Given the description of an element on the screen output the (x, y) to click on. 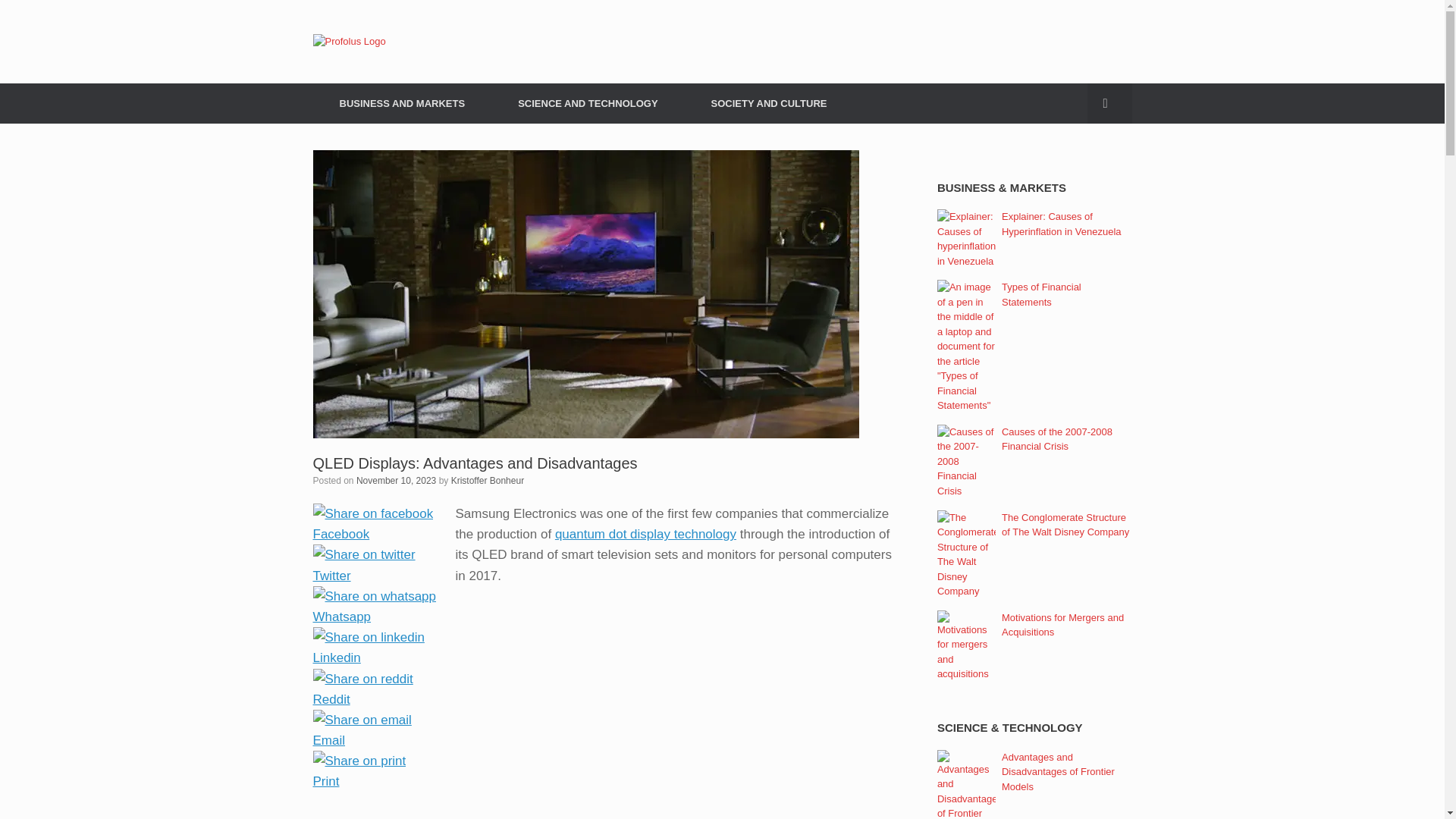
Email (374, 740)
Reddit (374, 699)
whatsapp (374, 596)
12:00 pm (395, 480)
linkedin (368, 637)
Whatsapp (374, 616)
Explainer: Causes of Hyperinflation in Venezuela (1061, 223)
SOCIETY AND CULTURE (768, 103)
email (361, 720)
quantum dot display technology (645, 534)
Email (374, 740)
Twitter (374, 574)
Print (374, 781)
November 10, 2023 (395, 480)
Linkedin (374, 657)
